Given the description of an element on the screen output the (x, y) to click on. 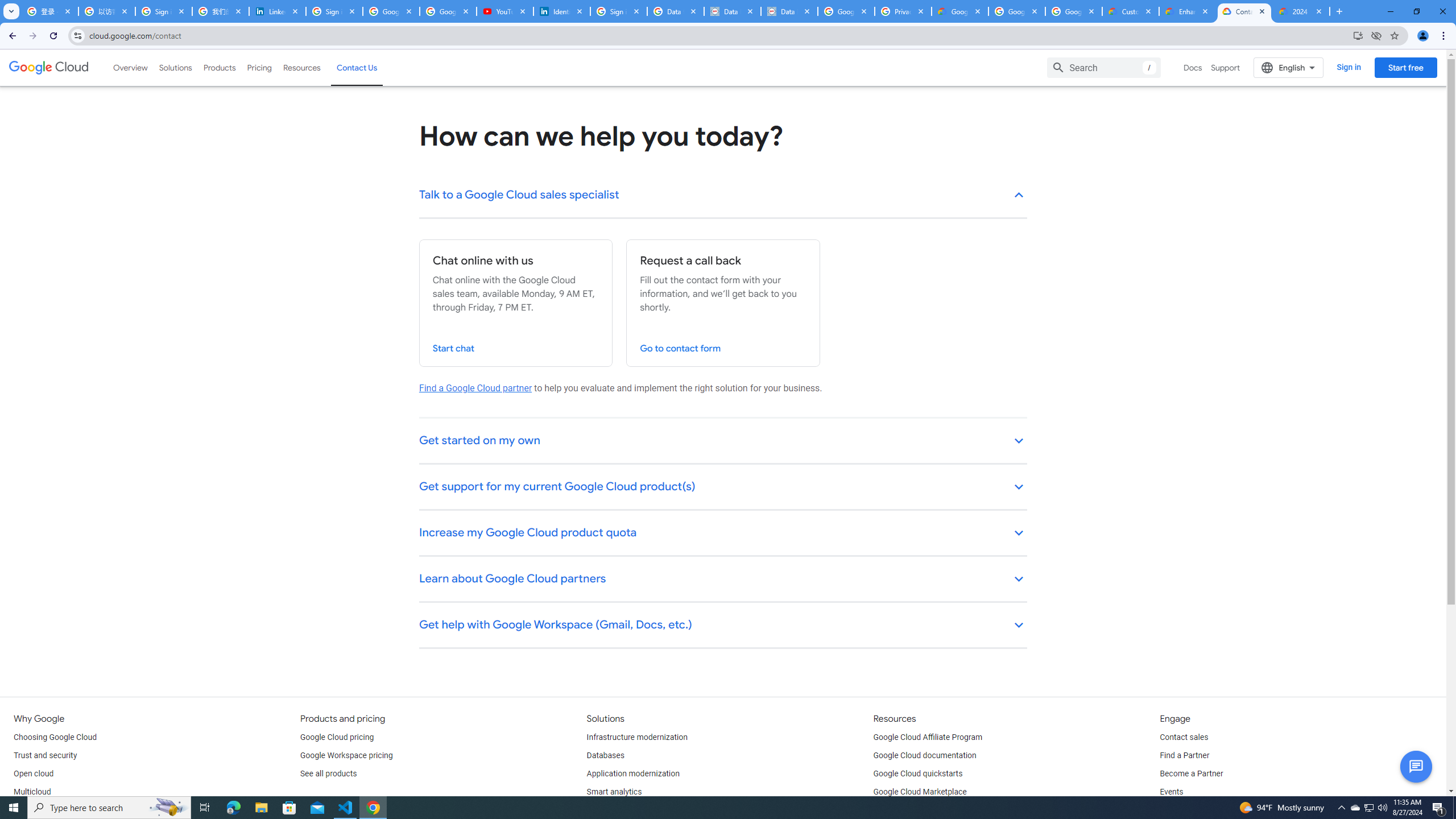
Sign in - Google Accounts (334, 11)
Sign in - Google Accounts (163, 11)
Google Workspace - Specific Terms (1015, 11)
Choosing Google Cloud (55, 737)
Learn about Google Cloud partners keyboard_arrow_down (723, 579)
Open cloud (33, 773)
Google Workspace - Specific Terms (1073, 11)
Application modernization (632, 773)
